Given the description of an element on the screen output the (x, y) to click on. 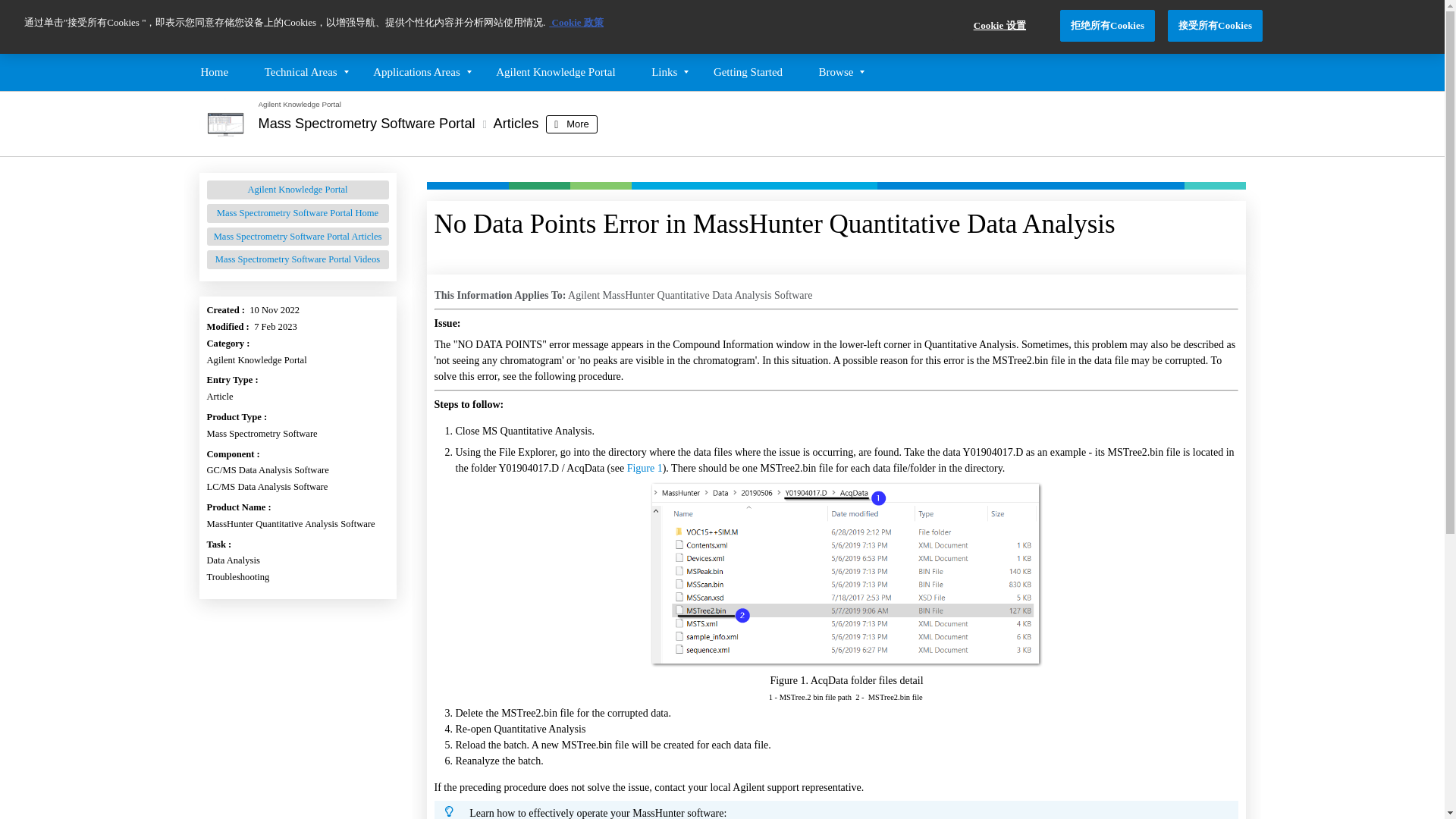
Technical Areas (300, 71)
Home (296, 26)
Home (213, 71)
Figure 1 (644, 468)
User (1198, 27)
Join or sign in (1198, 27)
English (1232, 26)
